Given the description of an element on the screen output the (x, y) to click on. 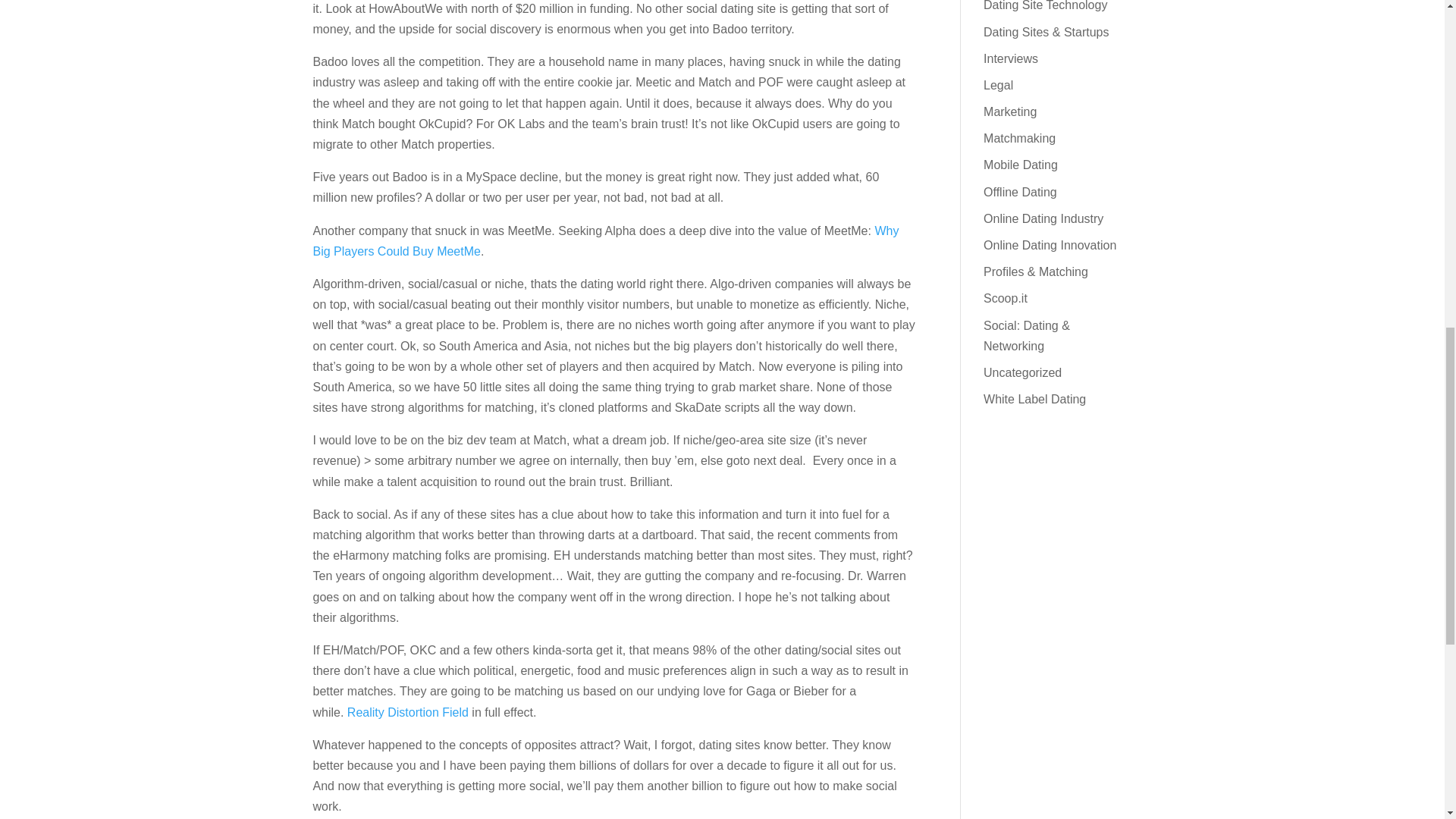
Interviews (1011, 58)
Matchmaking (1019, 137)
Legal (998, 84)
Online Dating Innovation (1050, 245)
Reality Distortion Field (407, 711)
Marketing (1010, 111)
Online Dating Industry (1043, 218)
Scoop.it (1005, 297)
Offline Dating (1020, 192)
Why Big Players Could Buy MeetMe (605, 240)
